Given the description of an element on the screen output the (x, y) to click on. 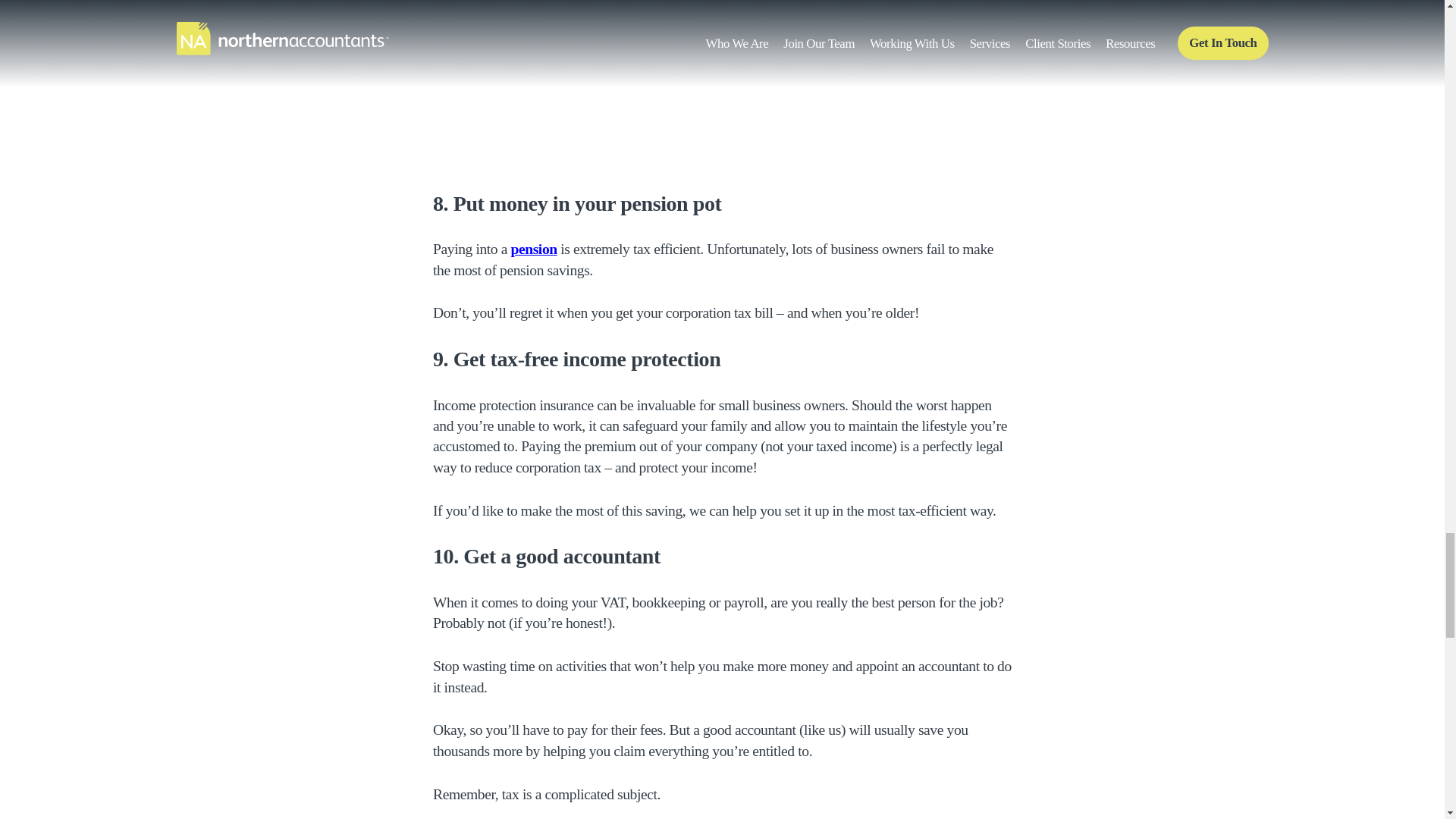
pension (533, 248)
